Given the description of an element on the screen output the (x, y) to click on. 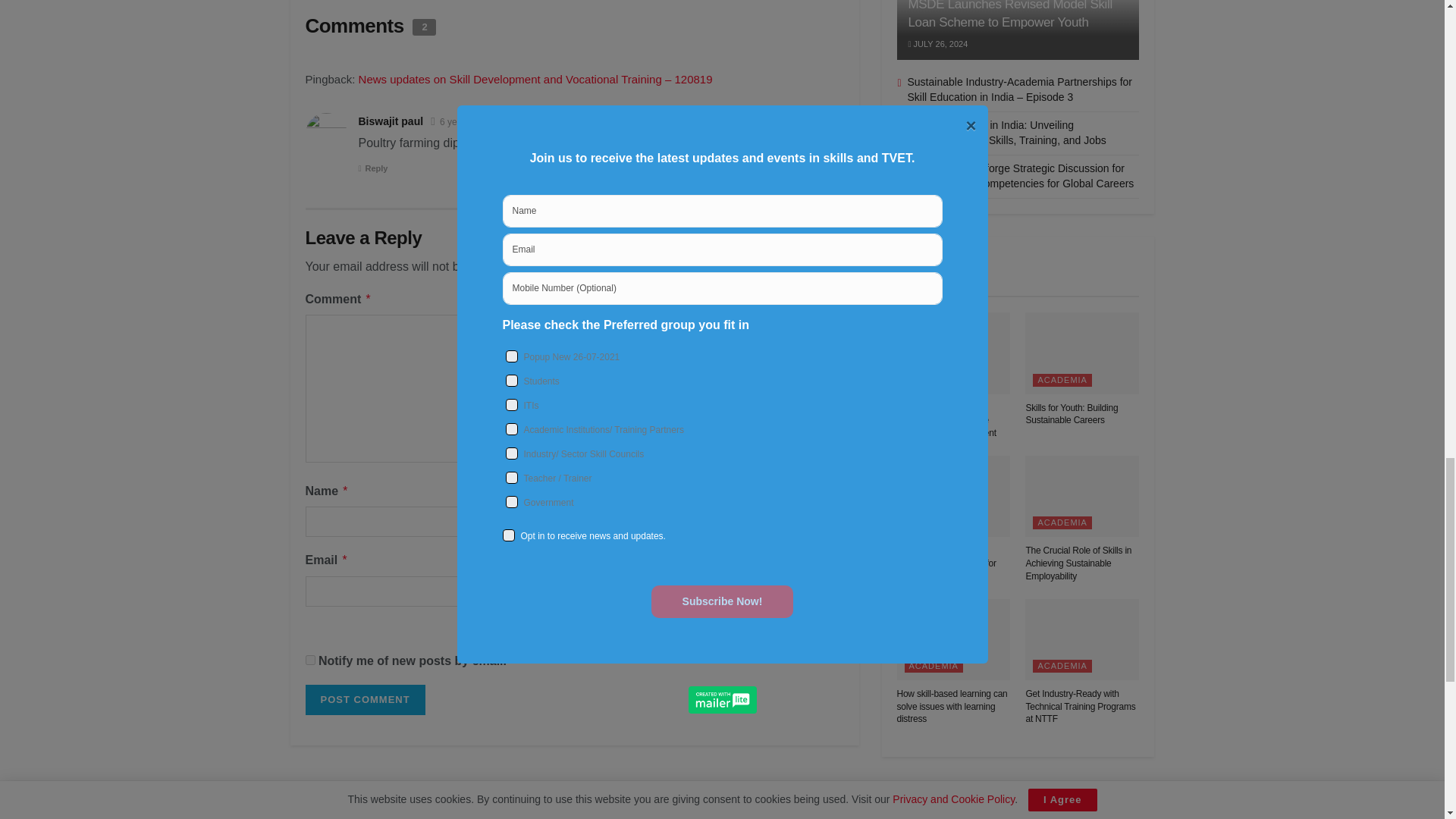
subscribe (309, 660)
Post Comment (364, 699)
subscribe (580, 628)
